Given the description of an element on the screen output the (x, y) to click on. 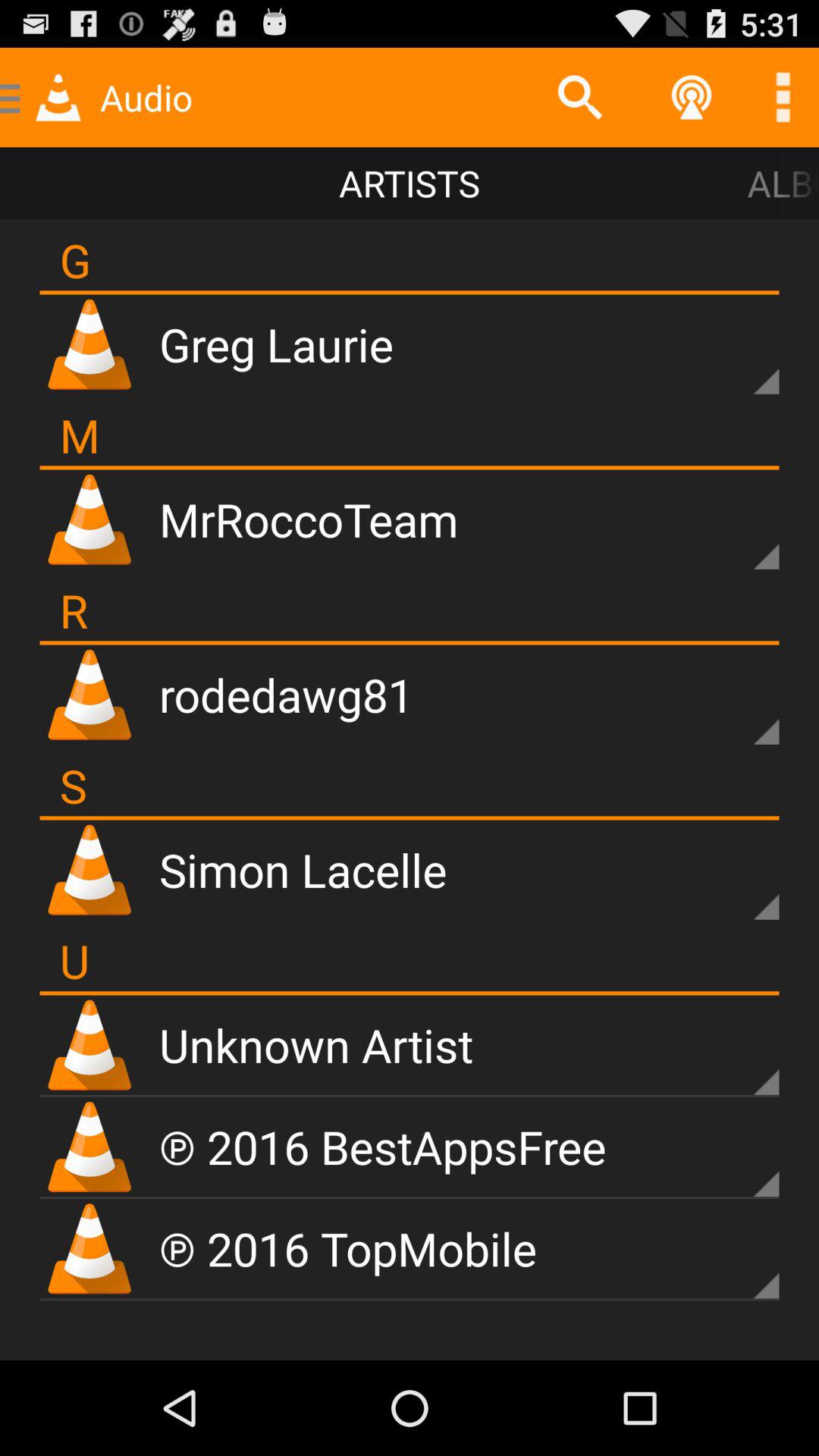
launch simon lacelle (303, 869)
